Given the description of an element on the screen output the (x, y) to click on. 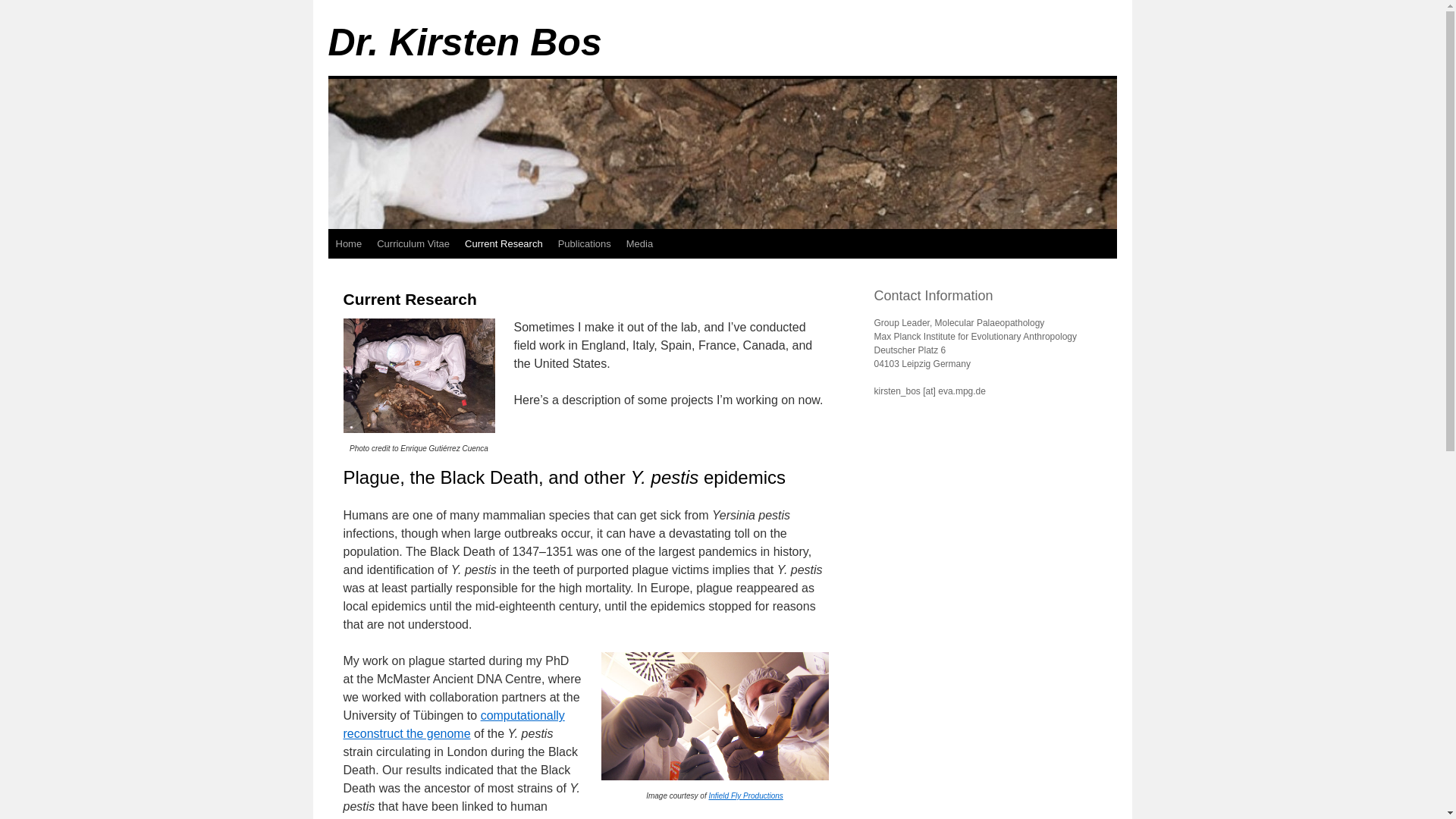
Current Research (503, 244)
Media (639, 244)
Dr. Kirsten Bos (464, 42)
Dr. Kirsten Bos (464, 42)
Infield Fly Productions (745, 795)
Home (348, 244)
Curriculum Vitae (413, 244)
computationally reconstruct the genome (453, 724)
Publications (584, 244)
